Given the description of an element on the screen output the (x, y) to click on. 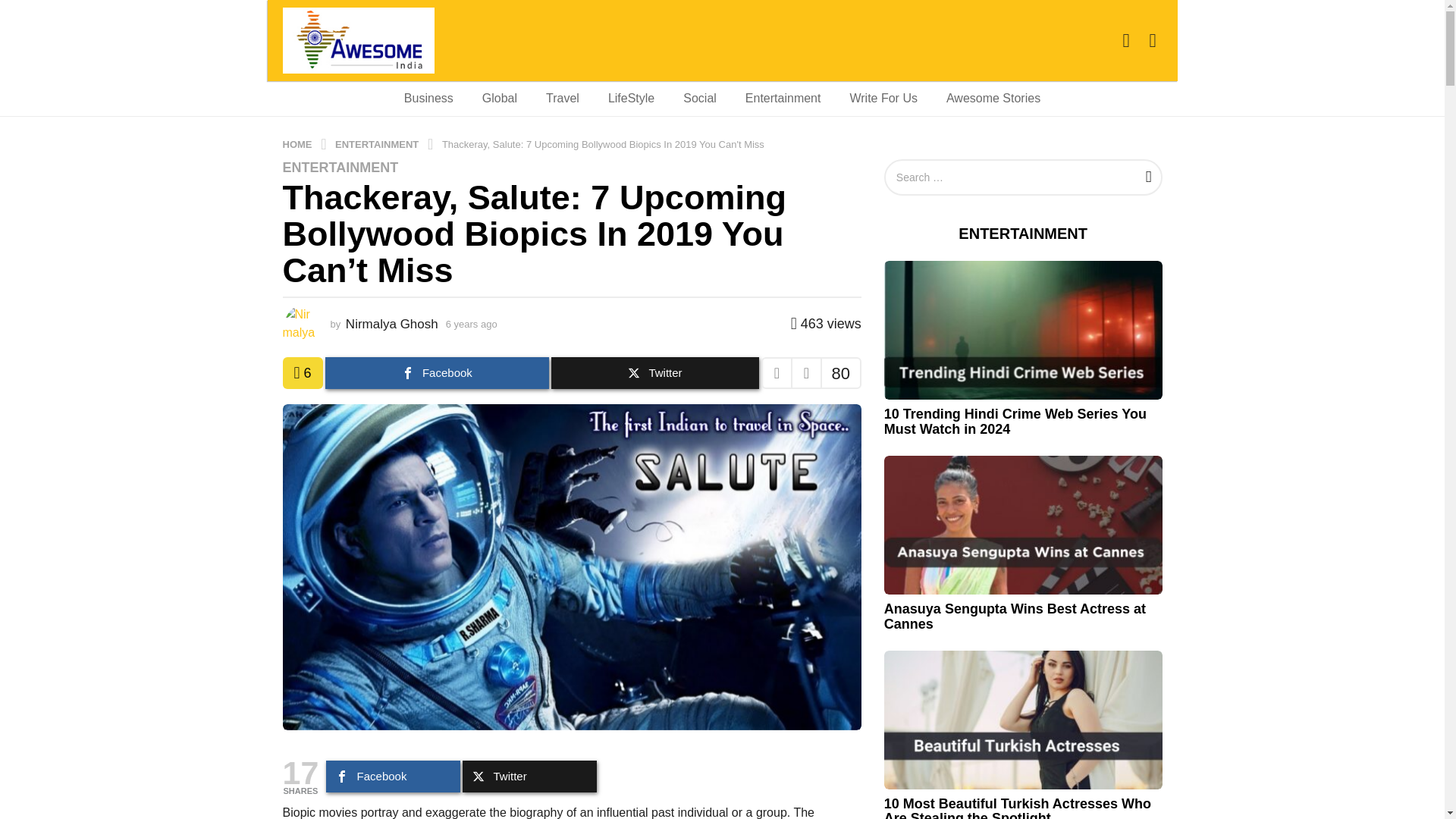
Global (499, 98)
Travel (562, 98)
Business (428, 98)
Entertainment (782, 98)
Write For Us (883, 98)
Social (699, 98)
LifeStyle (630, 98)
Awesome Stories (992, 98)
